Given the description of an element on the screen output the (x, y) to click on. 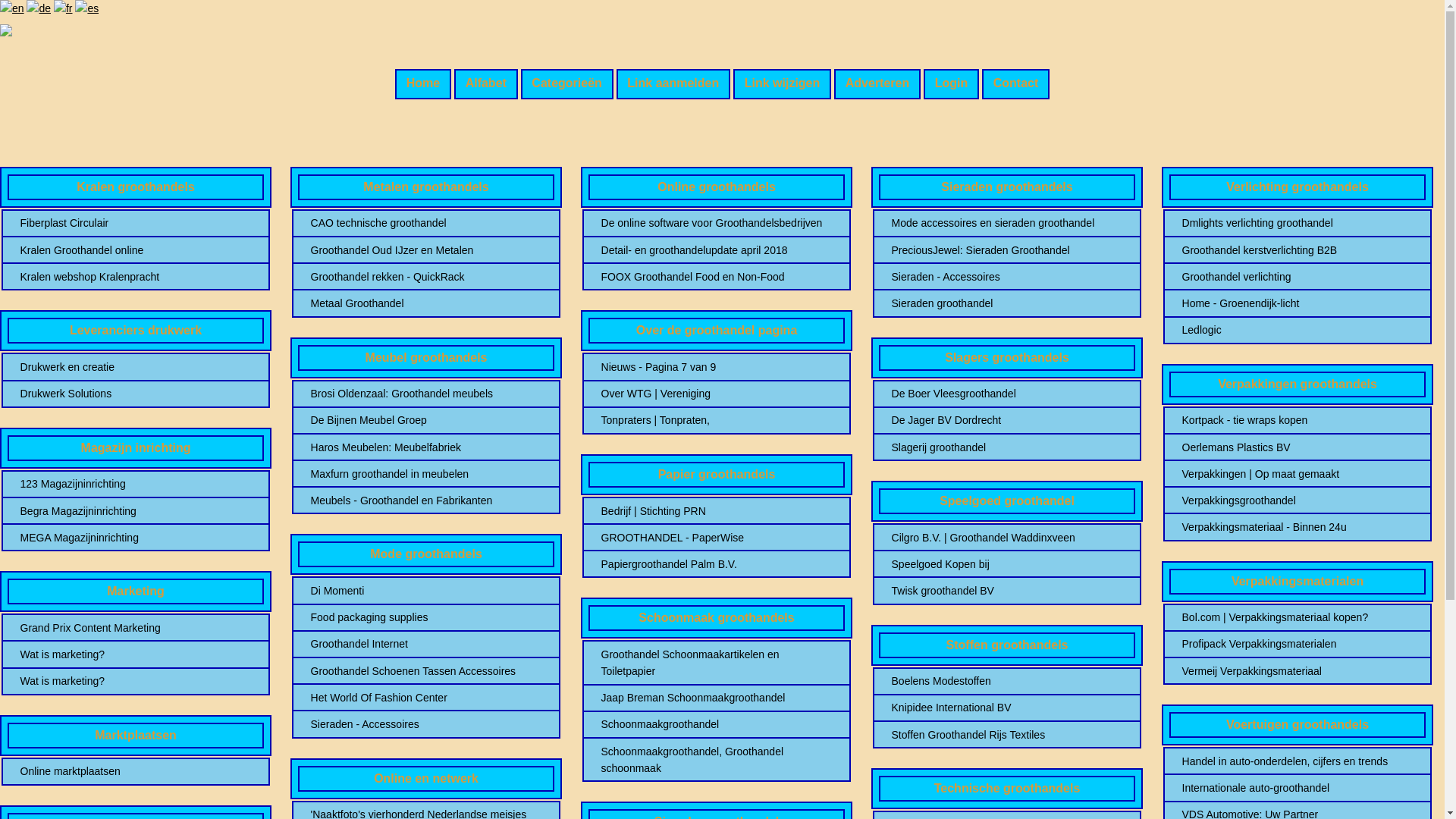
Papiergroothandel Palm B.V. Element type: text (716, 563)
Knipidee International BV Element type: text (1007, 707)
Groothandel rekken - QuickRack Element type: text (426, 276)
Wat is marketing? Element type: text (135, 680)
Drukwerk en creatie Element type: text (135, 366)
Grand Prix Content Marketing Element type: text (135, 627)
Home - Groenendijk-licht Element type: text (1297, 302)
Kortpack - tie wraps kopen Element type: text (1297, 419)
Over WTG | Vereniging Element type: text (716, 393)
Alfabet Element type: text (485, 84)
Sieraden - Accessoires Element type: text (426, 723)
123 Magazijninrichting Element type: text (135, 483)
Detail- en groothandelupdate april 2018 Element type: text (716, 249)
Cilgro B.V. | Groothandel Waddinxveen Element type: text (1007, 537)
Drukwerk Solutions Element type: text (135, 393)
Dmlights verlichting groothandel Element type: text (1297, 222)
FOOX Groothandel Food en Non-Food Element type: text (716, 276)
Tonpraters | Tonpraten, Element type: text (716, 419)
GROOTHANDEL - PaperWise Element type: text (716, 537)
Internationale auto-groothandel Element type: text (1297, 787)
Kralen Groothandel online Element type: text (135, 249)
Adverteren Element type: text (877, 84)
Verpakkingen | Op maat gemaakt Element type: text (1297, 473)
Slagerij groothandel Element type: text (1007, 447)
Oerlemans Plastics BV Element type: text (1297, 447)
Boelens Modestoffen Element type: text (1007, 680)
Di Momenti Element type: text (426, 590)
Het World Of Fashion Center Element type: text (426, 697)
De Jager BV Dordrecht Element type: text (1007, 419)
Groothandel Schoenen Tassen Accessoires Element type: text (426, 670)
MEGA Magazijninrichting Element type: text (135, 537)
CAO technische groothandel Element type: text (426, 222)
Groothandel verlichting Element type: text (1297, 276)
Profipack Verpakkingsmaterialen Element type: text (1297, 643)
Metaal Groothandel Element type: text (426, 302)
Verpakkingsmateriaal - Binnen 24u Element type: text (1297, 526)
Verpakkingsgroothandel Element type: text (1297, 500)
Link wijzigen Element type: text (782, 84)
Wat is marketing? Element type: text (135, 654)
De Bijnen Meubel Groep Element type: text (426, 419)
Schoonmaakgroothandel, Groothandel schoonmaak Element type: text (716, 759)
Speelgoed Kopen bij Element type: text (1007, 563)
Begra Magazijninrichting Element type: text (135, 510)
Fiberplast Circulair Element type: text (135, 222)
Link aanmelden Element type: text (672, 84)
De online software voor Groothandelsbedrijven Element type: text (716, 222)
Groothandel kerstverlichting B2B Element type: text (1297, 249)
Online marktplaatsen Element type: text (135, 770)
Bedrijf | Stichting PRN Element type: text (716, 510)
Login Element type: text (951, 84)
Kralen webshop Kralenpracht Element type: text (135, 276)
PreciousJewel: Sieraden Groothandel Element type: text (1007, 249)
Sieraden - Accessoires Element type: text (1007, 276)
Home Element type: text (423, 84)
Twisk groothandel BV Element type: text (1007, 590)
Brosi Oldenzaal: Groothandel meubels Element type: text (426, 393)
Sieraden groothandel Element type: text (1007, 302)
Vermeij Verpakkingsmateriaal Element type: text (1297, 670)
Meubels - Groothandel en Fabrikanten Element type: text (426, 500)
Handel in auto-onderdelen, cijfers en trends Element type: text (1297, 761)
Haros Meubelen: Meubelfabriek Element type: text (426, 447)
Nieuws - Pagina 7 van 9 Element type: text (716, 366)
De Boer Vleesgroothandel Element type: text (1007, 393)
Mode accessoires en sieraden groothandel Element type: text (1007, 222)
Food packaging supplies Element type: text (426, 616)
Bol.com | Verpakkingsmateriaal kopen? Element type: text (1297, 616)
Stoffen Groothandel Rijs Textiles Element type: text (1007, 734)
Schoonmaakgroothandel Element type: text (716, 723)
Groothandel Oud IJzer en Metalen Element type: text (426, 249)
Ledlogic Element type: text (1297, 329)
Groothandel Internet Element type: text (426, 643)
Jaap Breman Schoonmaakgroothandel Element type: text (716, 697)
Contact Element type: text (1015, 84)
Maxfurn groothandel in meubelen Element type: text (426, 473)
Groothandel Schoonmaakartikelen en Toiletpapier Element type: text (716, 662)
